Given the description of an element on the screen output the (x, y) to click on. 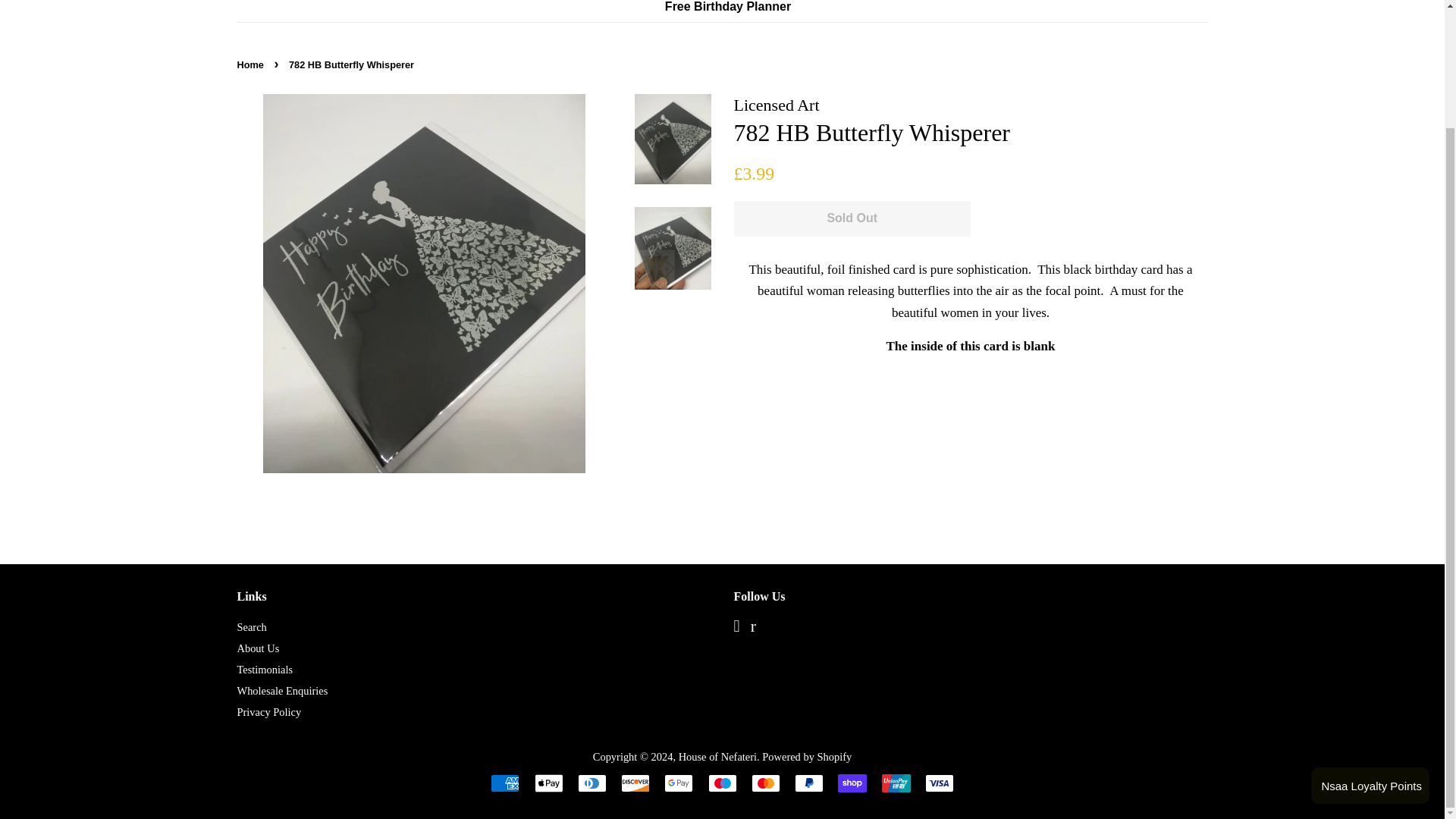
LoyaltyLion beacon (1370, 644)
Discover (635, 782)
PayPal (809, 782)
American Express (504, 782)
House of Nefateri on Instagram (736, 627)
Apple Pay (548, 782)
Union Pay (895, 782)
House of Nefateri on RSS (753, 627)
Back to the frontpage (250, 64)
Diners Club (592, 782)
Mastercard (765, 782)
Visa (938, 782)
Shop Pay (852, 782)
Google Pay (678, 782)
Maestro (721, 782)
